Given the description of an element on the screen output the (x, y) to click on. 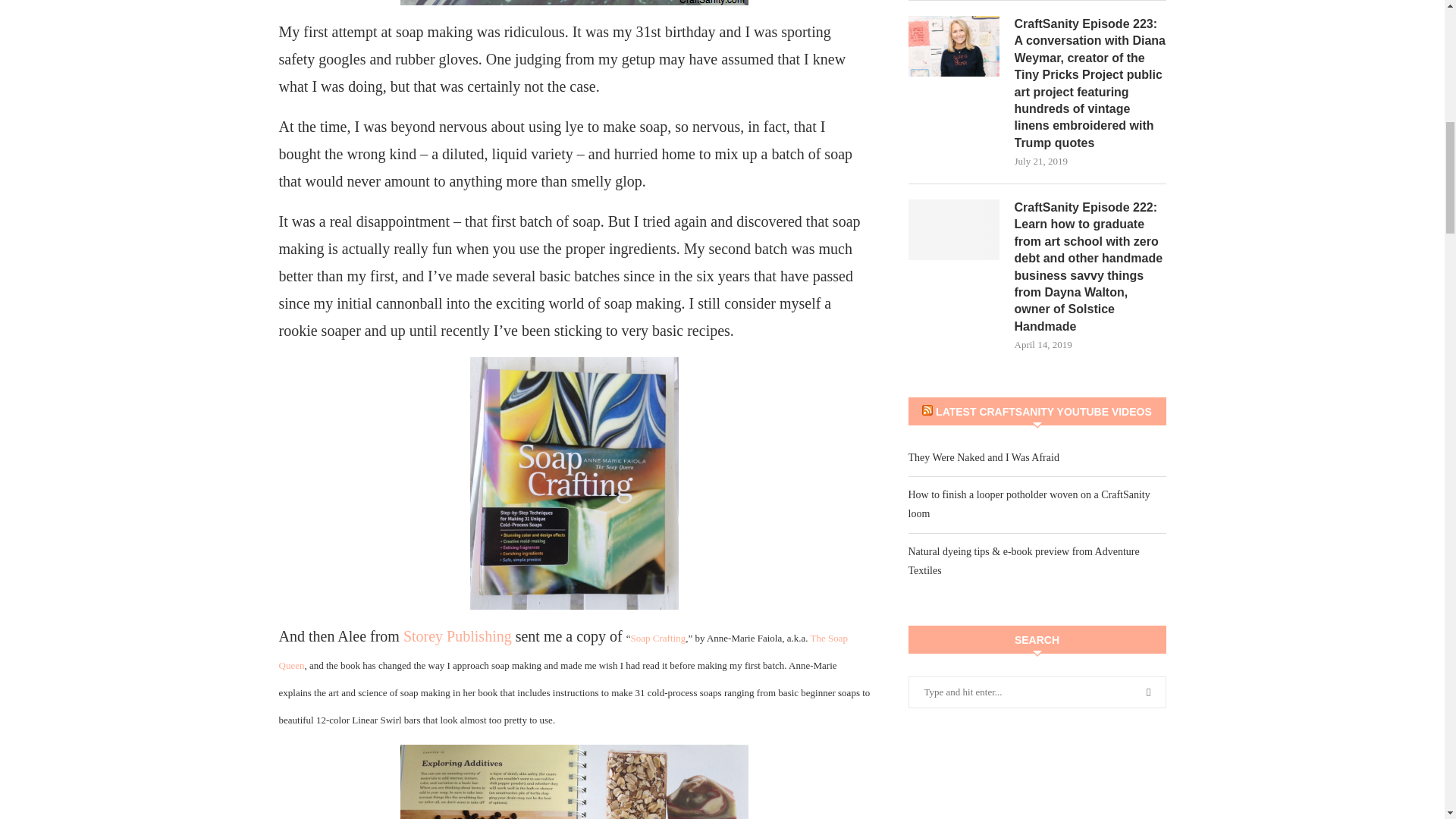
Storey Publishing (457, 636)
Soap Crafting (657, 637)
The Soap Queen (563, 651)
